Given the description of an element on the screen output the (x, y) to click on. 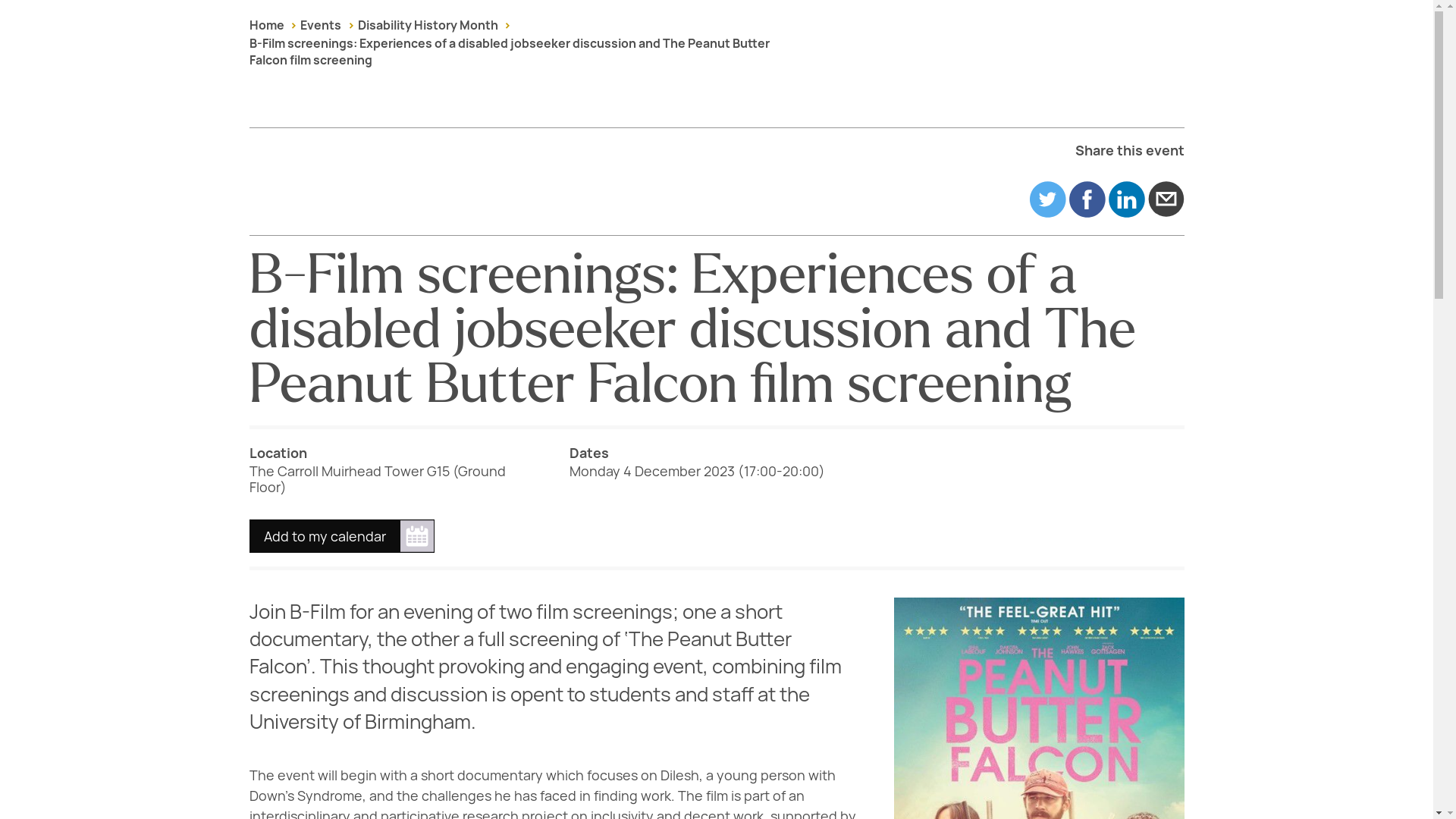
Events (319, 25)
Share on email (1166, 198)
Share on Twitter (1047, 198)
Home (265, 25)
Share on facebook (1086, 198)
Share in LinkedIn (1126, 198)
Add to my calendar (340, 535)
Disability History Month (427, 25)
Share on Twitter (1047, 198)
Share on linkedin (1126, 198)
Share on Facebook (1086, 198)
